Given the description of an element on the screen output the (x, y) to click on. 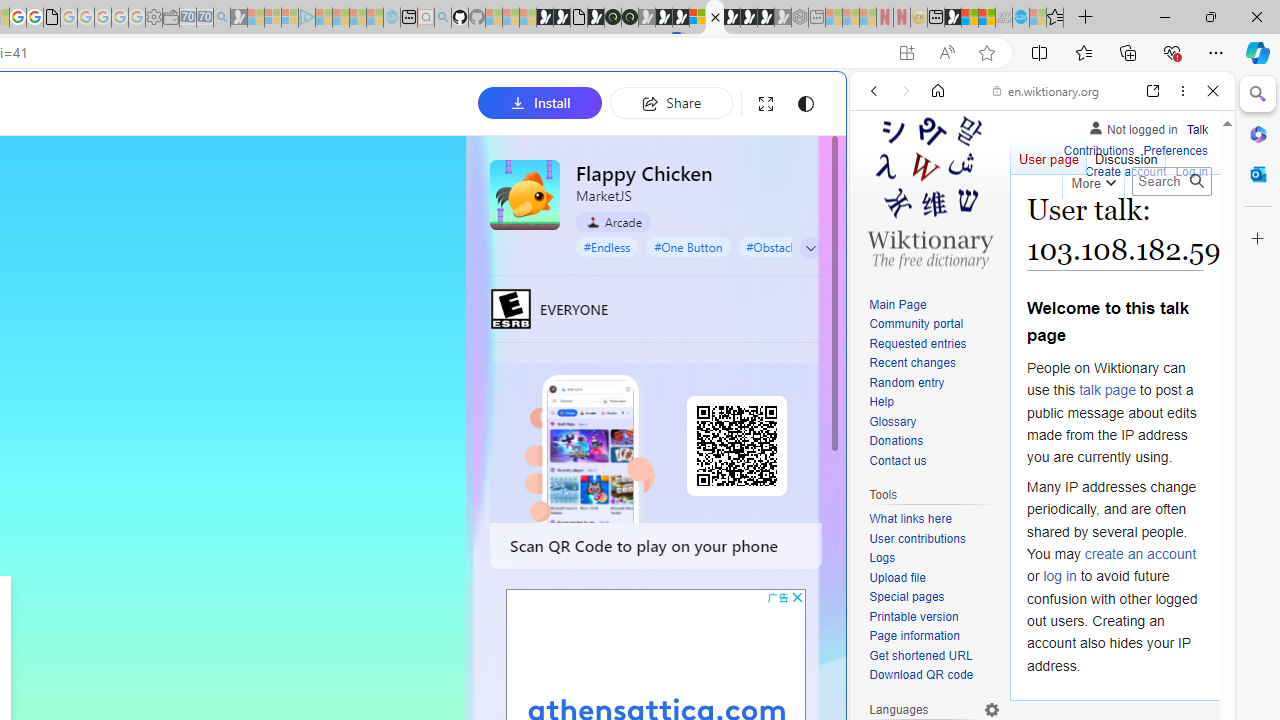
Printable version (913, 616)
Install (540, 102)
Microsoft Start - Sleeping (357, 17)
User page (1048, 154)
Play Zoo Boom in your browser | Games from Microsoft Start (561, 17)
github - Search - Sleeping (442, 17)
Arcade (613, 221)
Close split screen (844, 102)
SEARCH TOOLS (1093, 228)
